Given the description of an element on the screen output the (x, y) to click on. 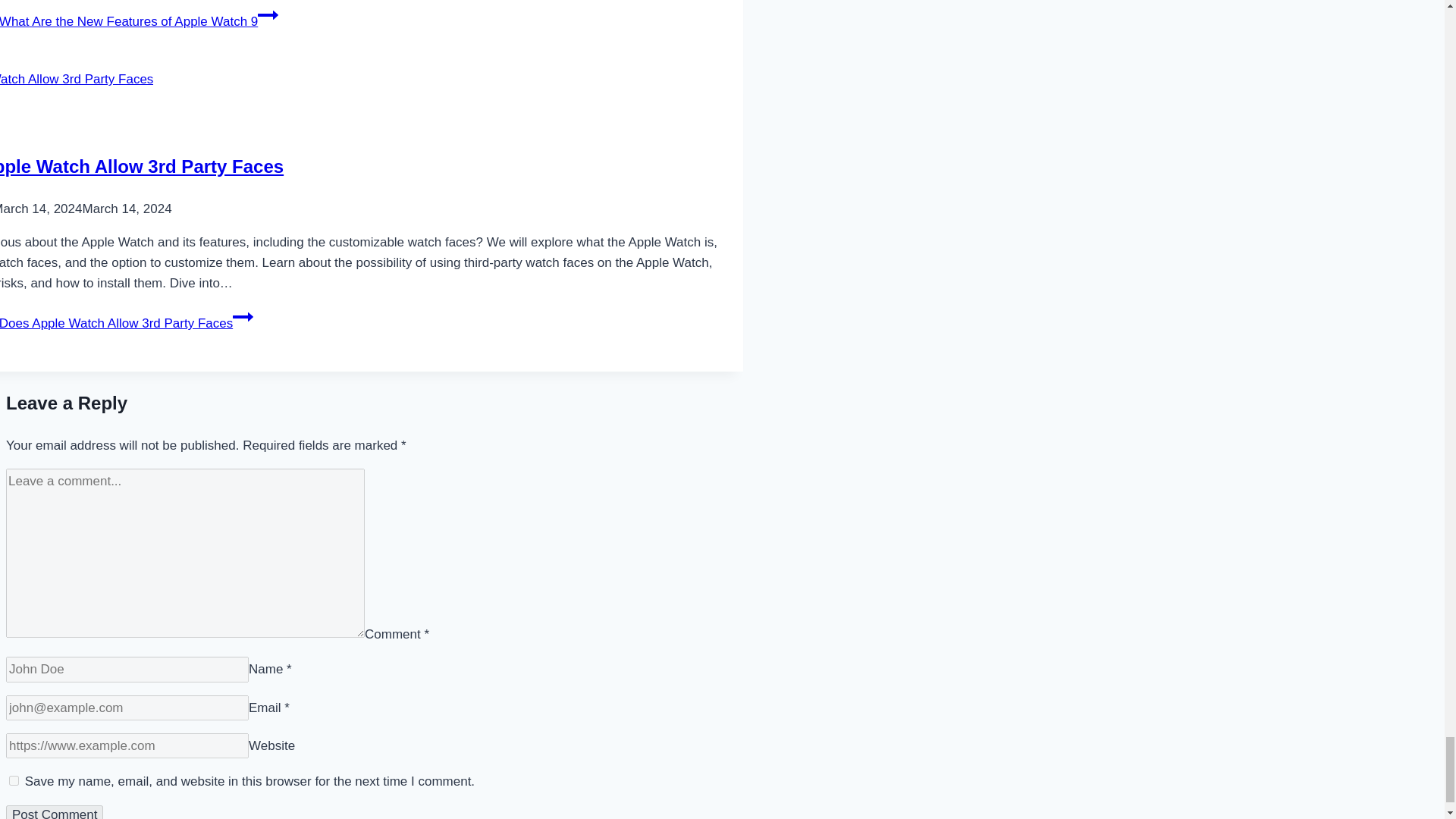
Continue (267, 14)
Read More What Are the New Features of Apple Watch 9Continue (139, 21)
yes (13, 780)
Continue (242, 316)
